Given the description of an element on the screen output the (x, y) to click on. 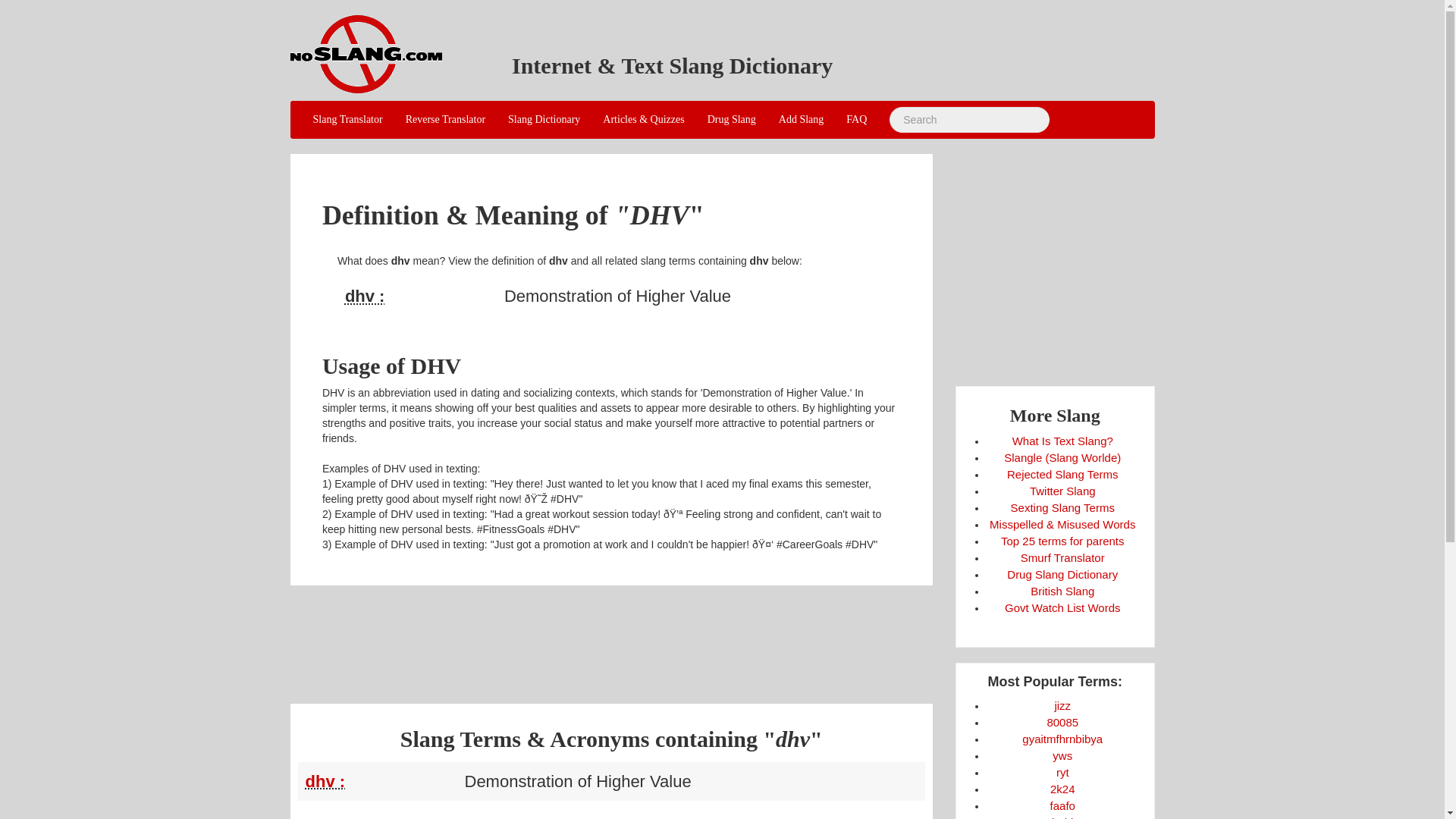
yws (1061, 755)
dhv : (324, 781)
gyaitmfhrnbibya (1062, 738)
jizz (1062, 705)
right (1062, 771)
Boobs (1062, 721)
Top 25 terms for parents (1062, 540)
semen (1062, 705)
Twitter Slang (1062, 490)
faafo (1062, 805)
Rejected Slang Terms (1062, 473)
British Slang (1062, 590)
Demonstration of Higher Value (420, 295)
you want sex (1061, 755)
